Given the description of an element on the screen output the (x, y) to click on. 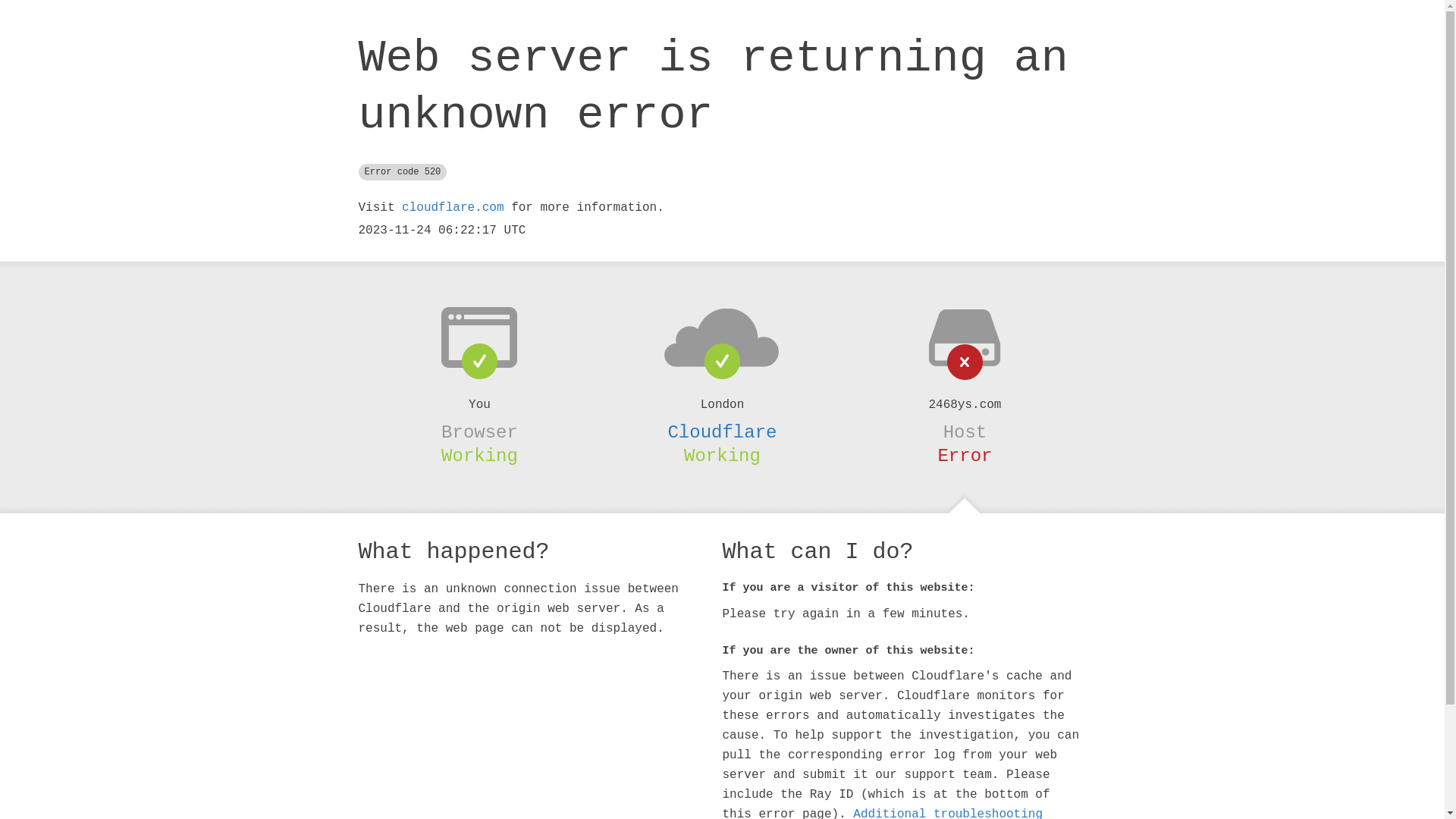
Cloudflare Element type: text (721, 432)
cloudflare.com Element type: text (452, 207)
